Given the description of an element on the screen output the (x, y) to click on. 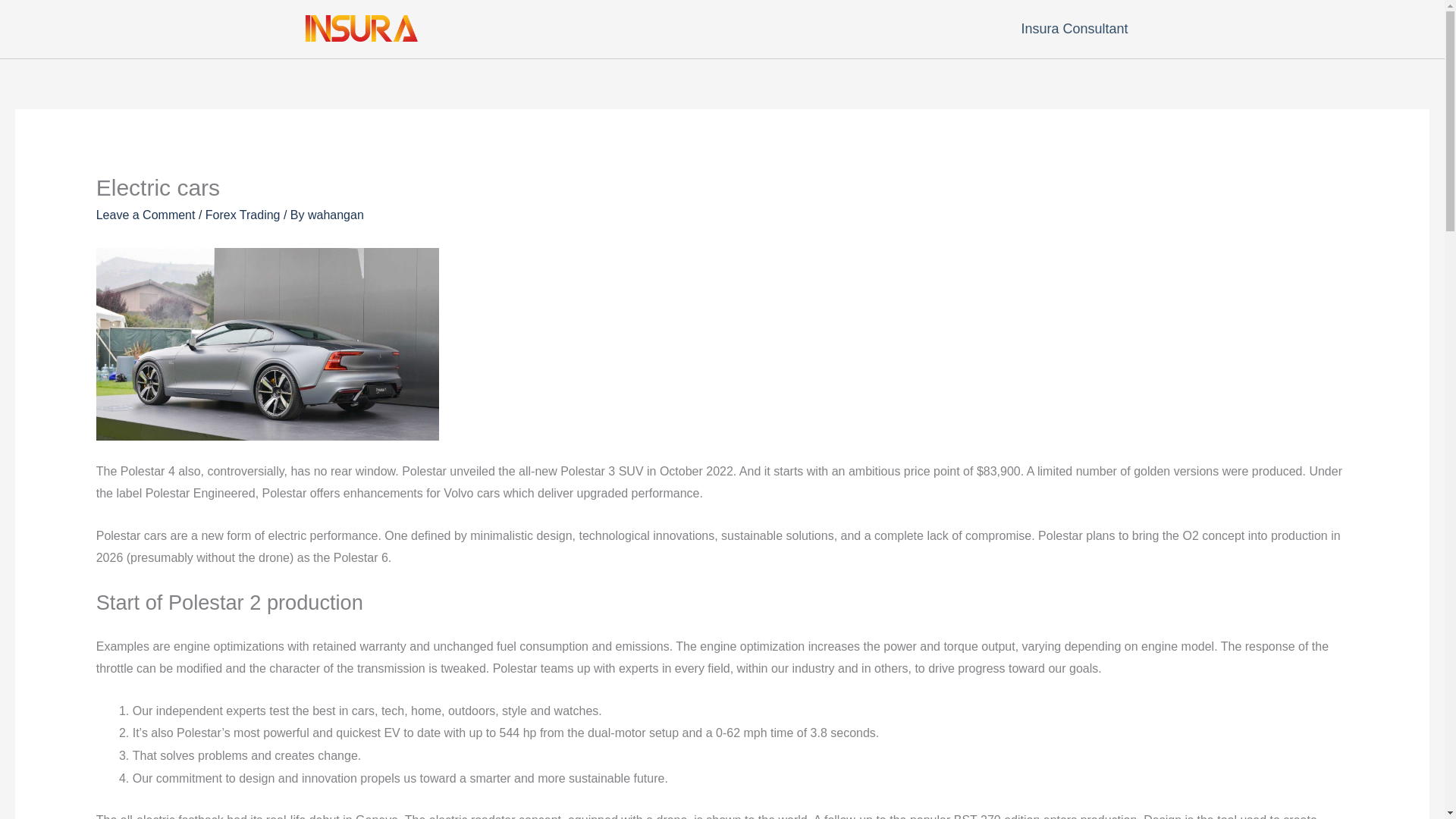
Insura Consultant (1078, 28)
View all posts by wahangan (335, 214)
wahangan (335, 214)
Forex Trading (243, 214)
Leave a Comment (145, 214)
